Given the description of an element on the screen output the (x, y) to click on. 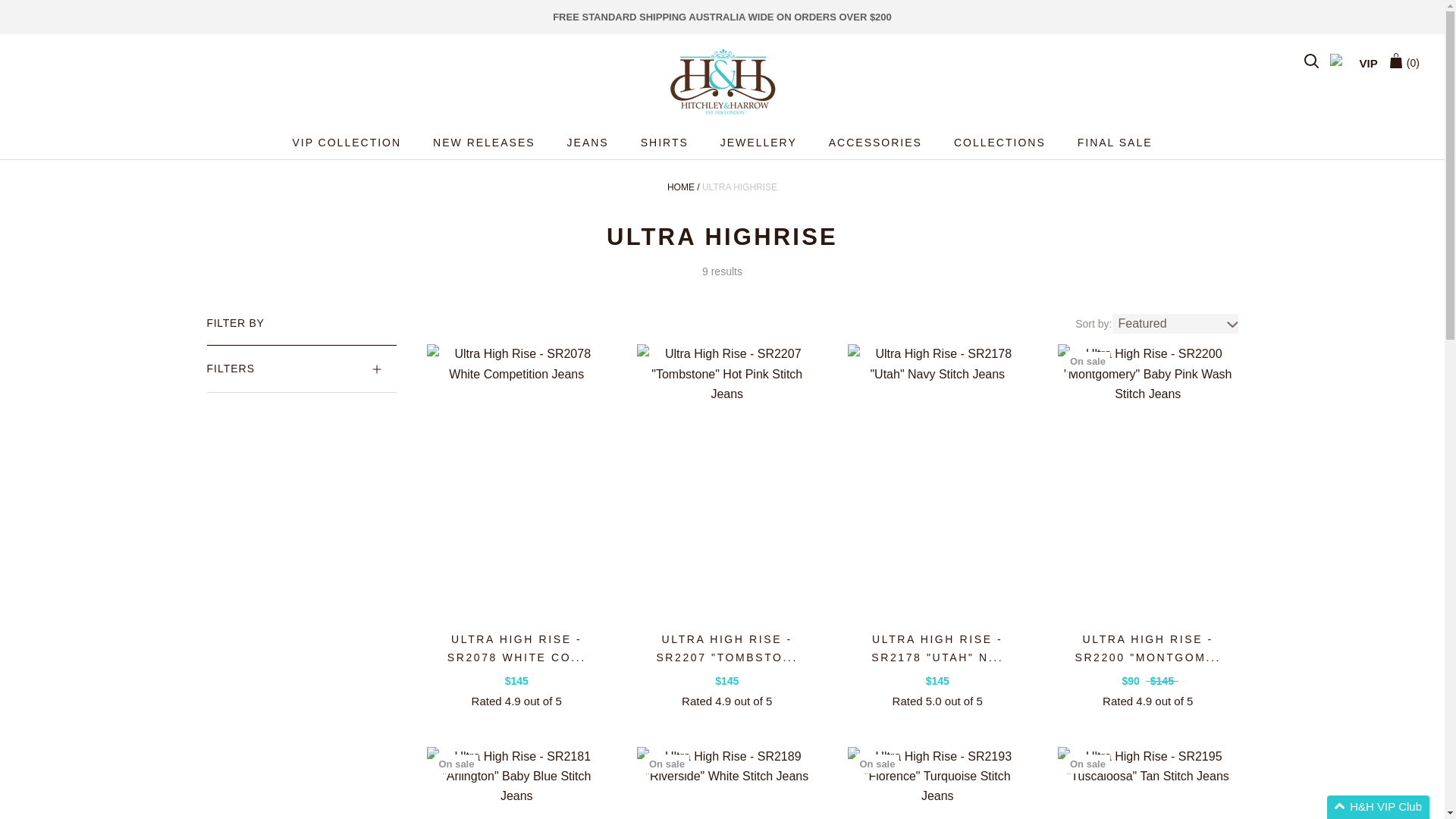
Home (680, 186)
